Given the description of an element on the screen output the (x, y) to click on. 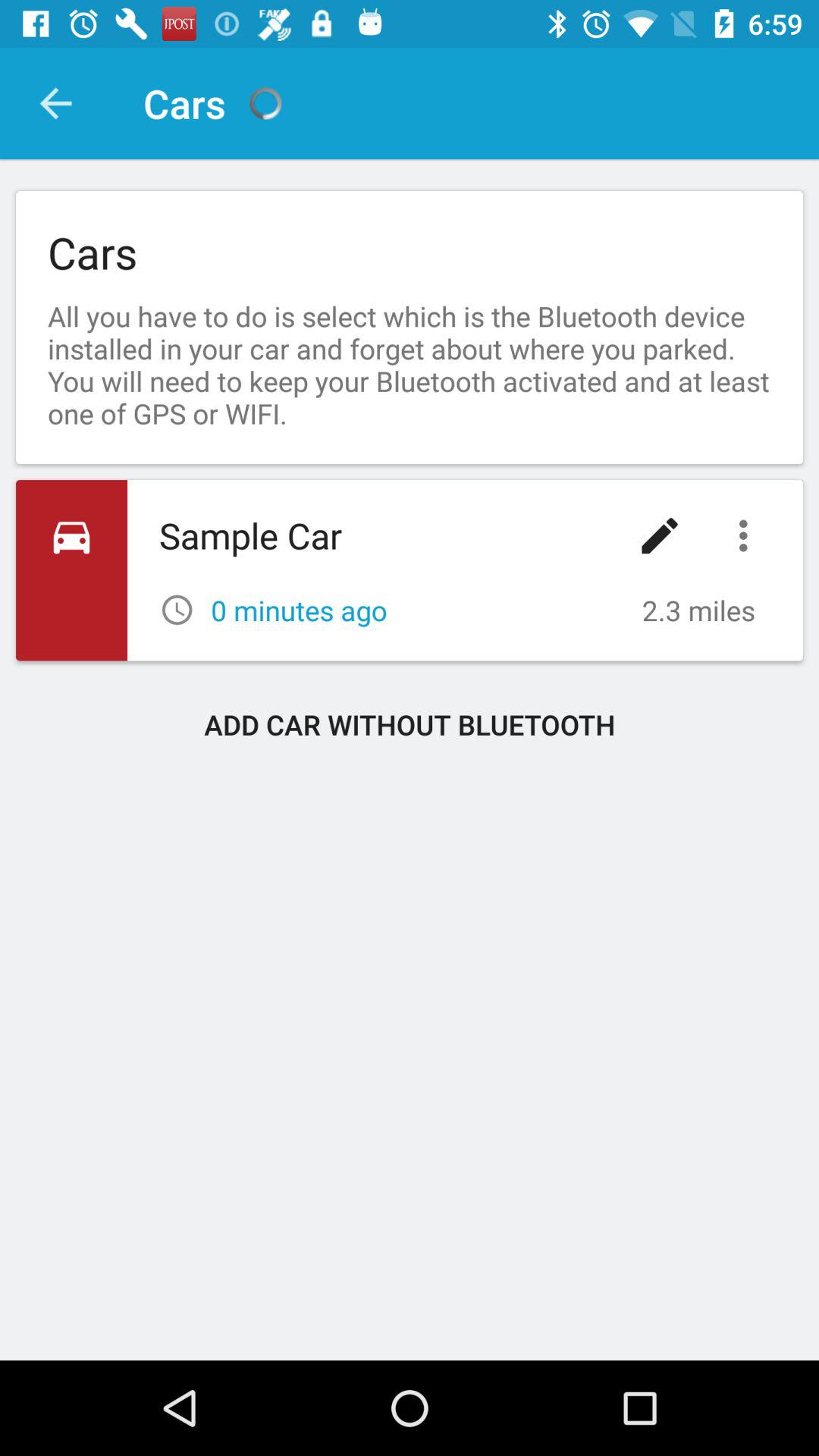
turn off icon to the left of the cars (55, 103)
